Given the description of an element on the screen output the (x, y) to click on. 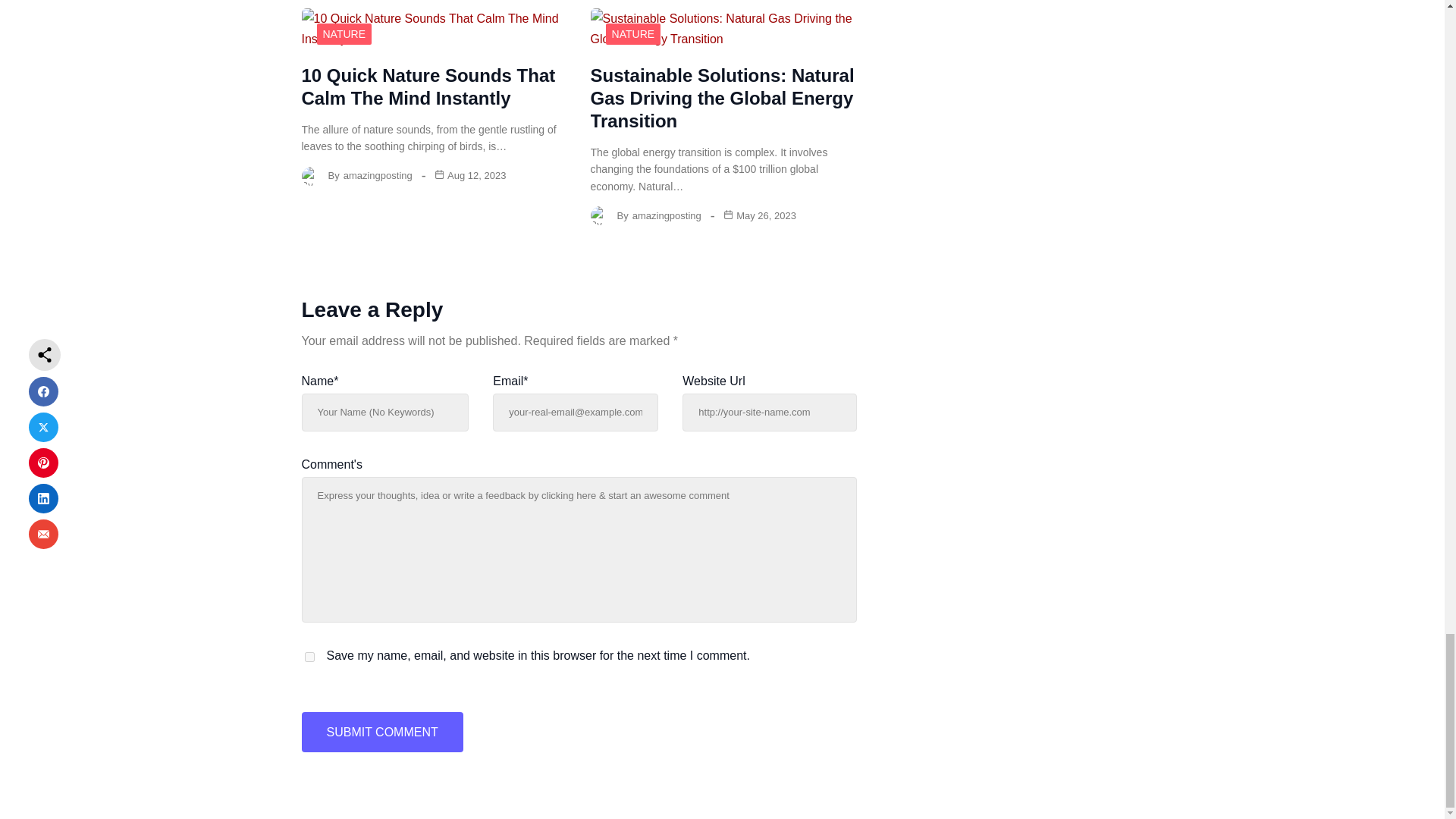
yes (309, 656)
NATURE (633, 34)
10 Quick Nature Sounds That Calm The Mind Instantly (428, 86)
amazingposting (377, 175)
amazingposting (666, 215)
SUBMIT COMMENT (382, 731)
NATURE (344, 34)
